Given the description of an element on the screen output the (x, y) to click on. 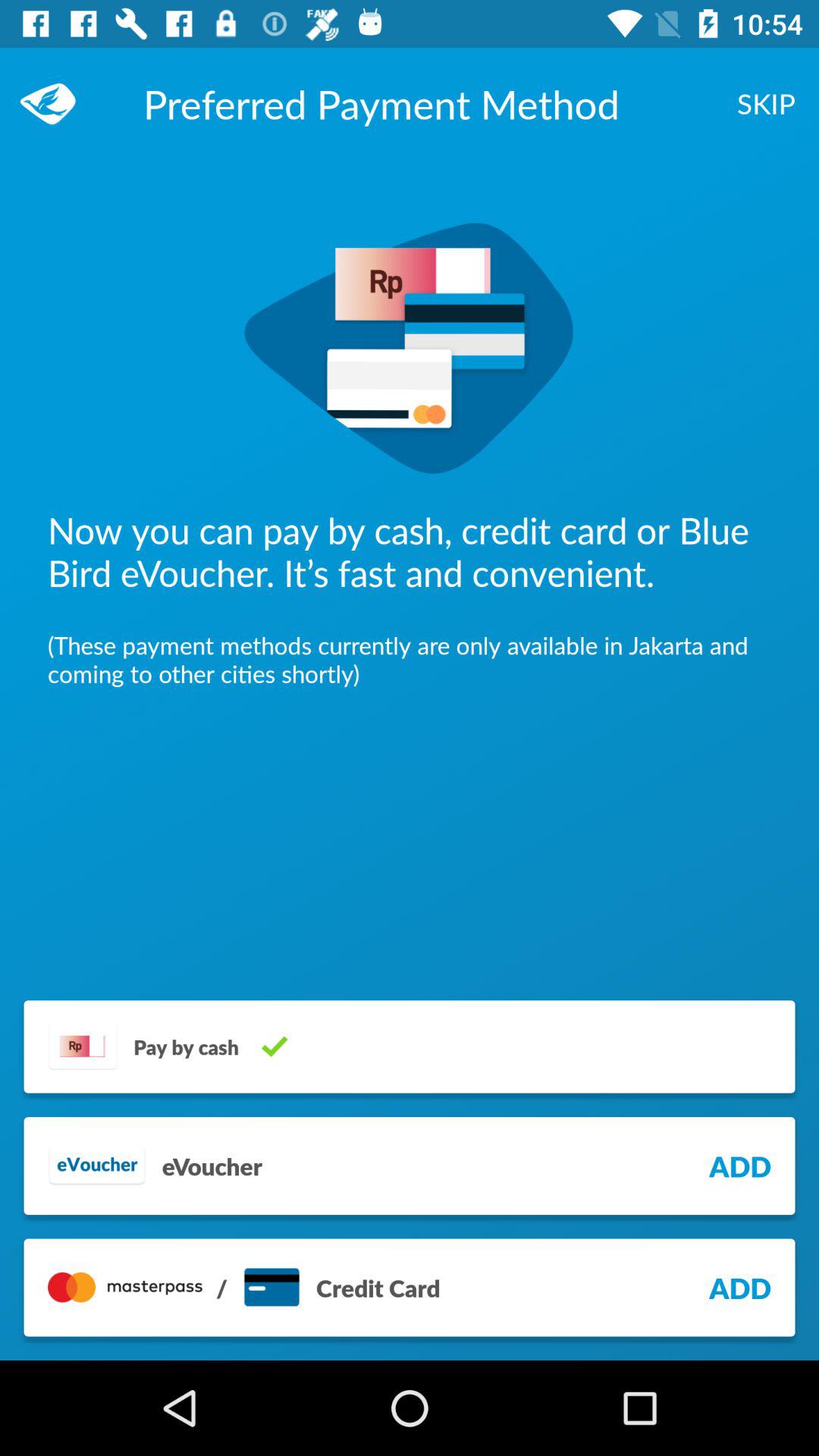
tap the icon to the left of the preferred payment method item (55, 103)
